Given the description of an element on the screen output the (x, y) to click on. 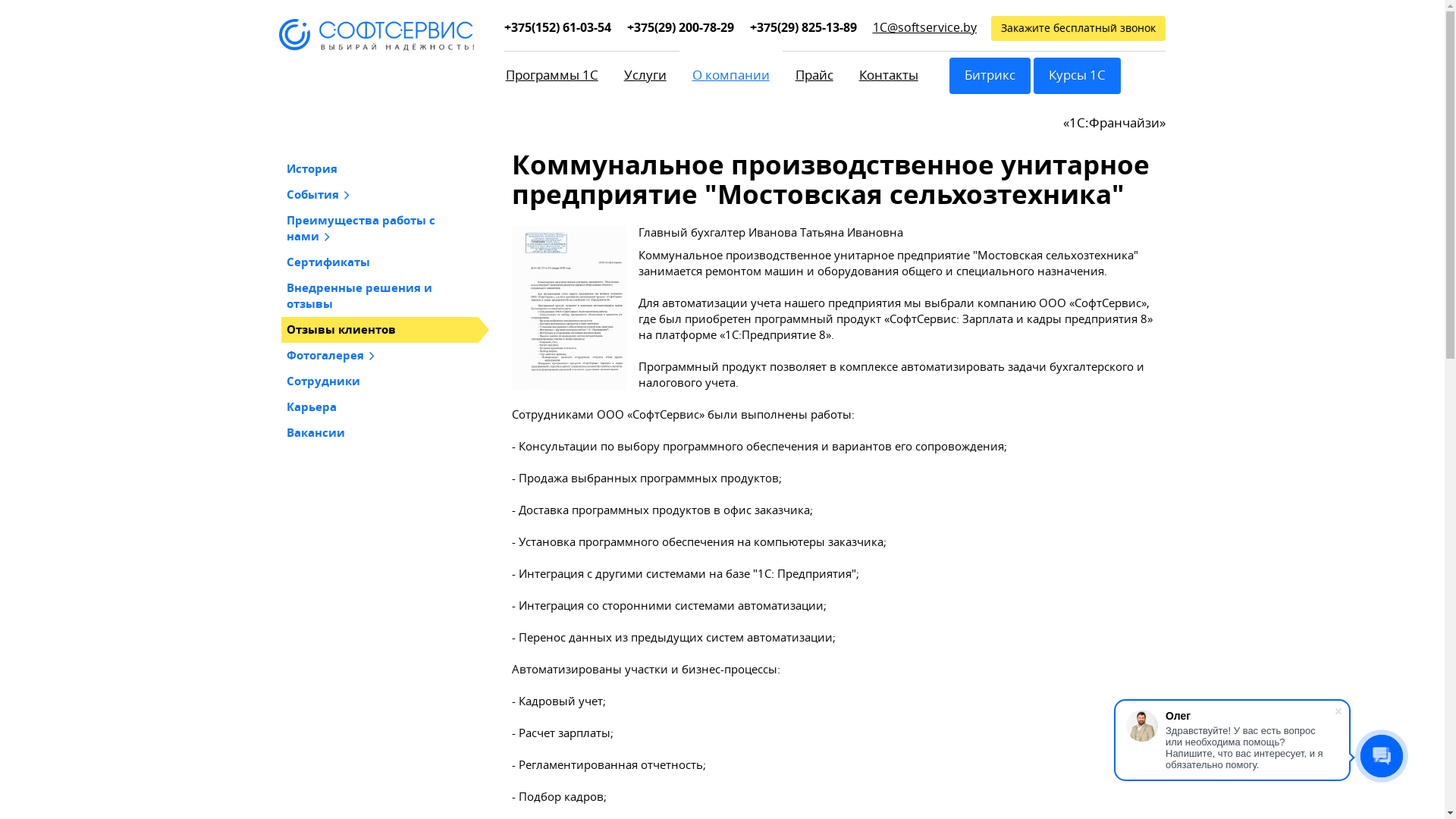
+375(29) 200-78-29 Element type: text (680, 26)
1C@softservice.by Element type: text (924, 26)
+375(152) 61-03-54 Element type: text (557, 26)
+375(29) 825-13-89 Element type: text (802, 26)
